Given the description of an element on the screen output the (x, y) to click on. 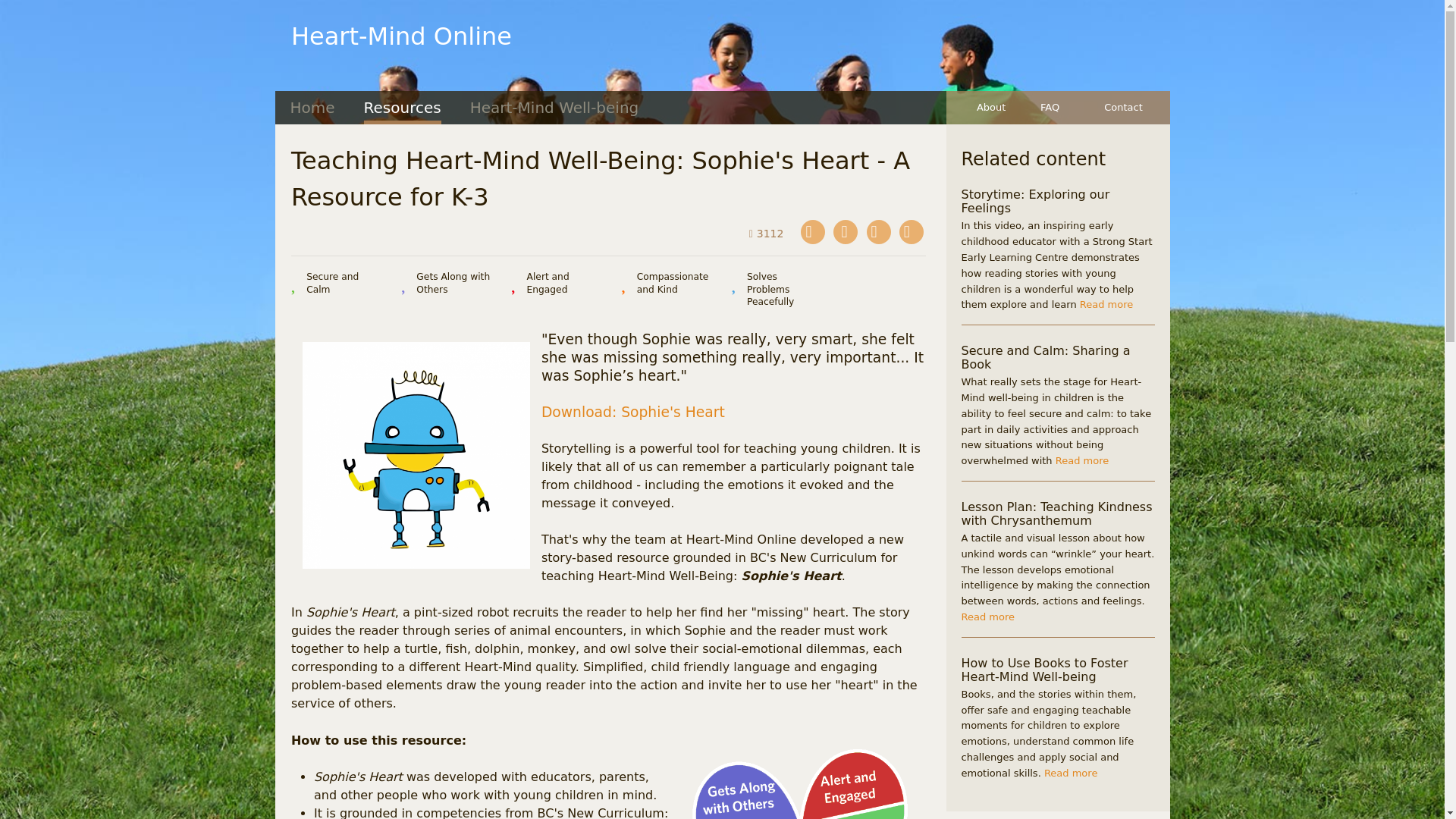
Solves Problems Peacefully (777, 290)
FAQ (1063, 107)
Alert and Engaged (556, 284)
Secure and Calm (336, 284)
Heart-Mind Well-being (554, 107)
Resources (402, 107)
Contact (1128, 107)
Home (311, 107)
Compassionate and Kind (667, 284)
Heart-Mind Online (401, 36)
Download: Sophie's Heart (633, 412)
Storytime: Exploring our Feelings (1034, 201)
Gets Along with Others (446, 284)
Read more (1106, 304)
